Given the description of an element on the screen output the (x, y) to click on. 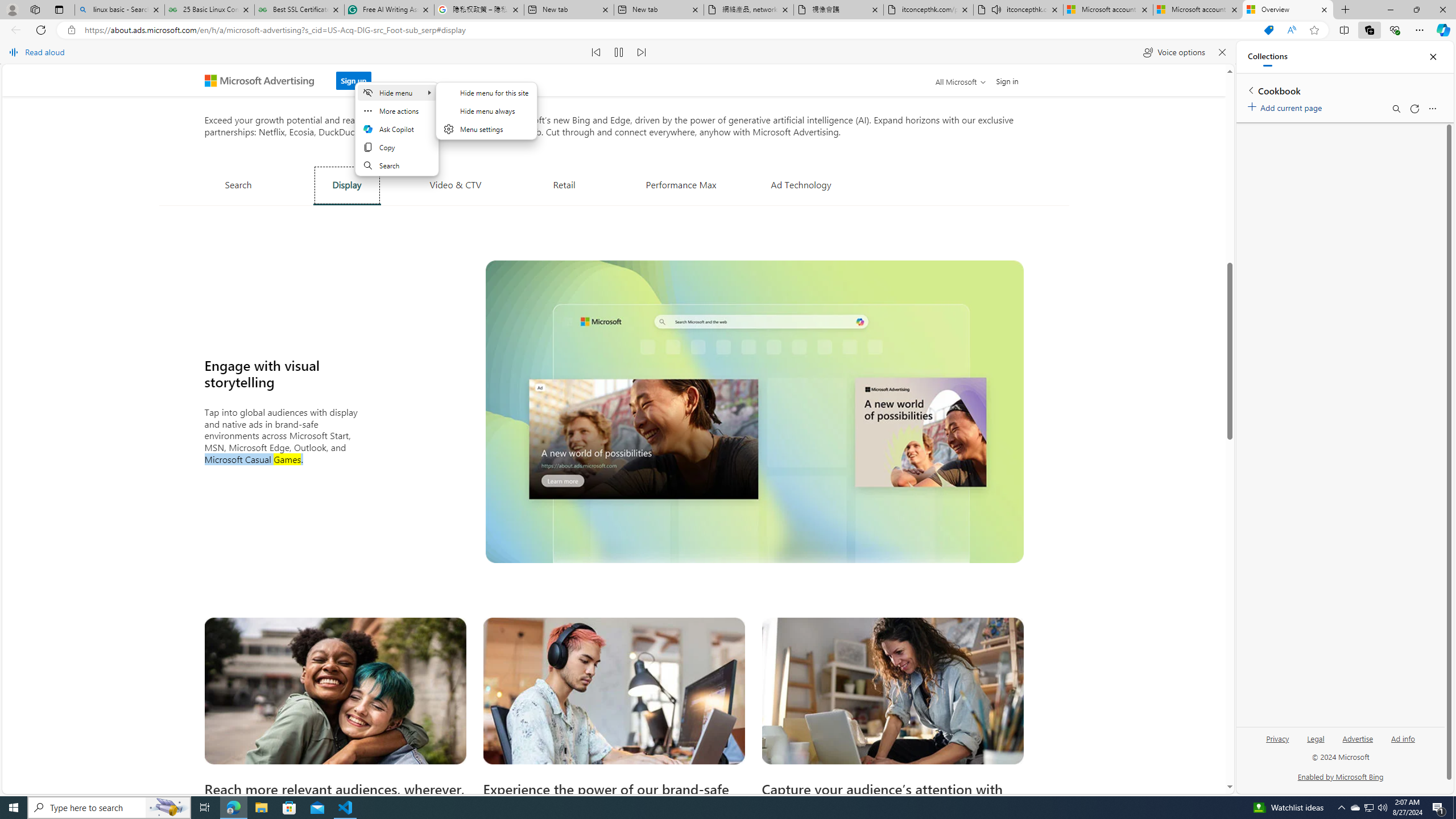
Hide menu always (486, 110)
Overview (1287, 9)
Close read aloud (1221, 52)
Retail (563, 183)
Back to list of collections (1250, 90)
Best SSL Certificates Provider in India - GeeksforGeeks (298, 9)
Microsoft Advertising (263, 79)
